Given the description of an element on the screen output the (x, y) to click on. 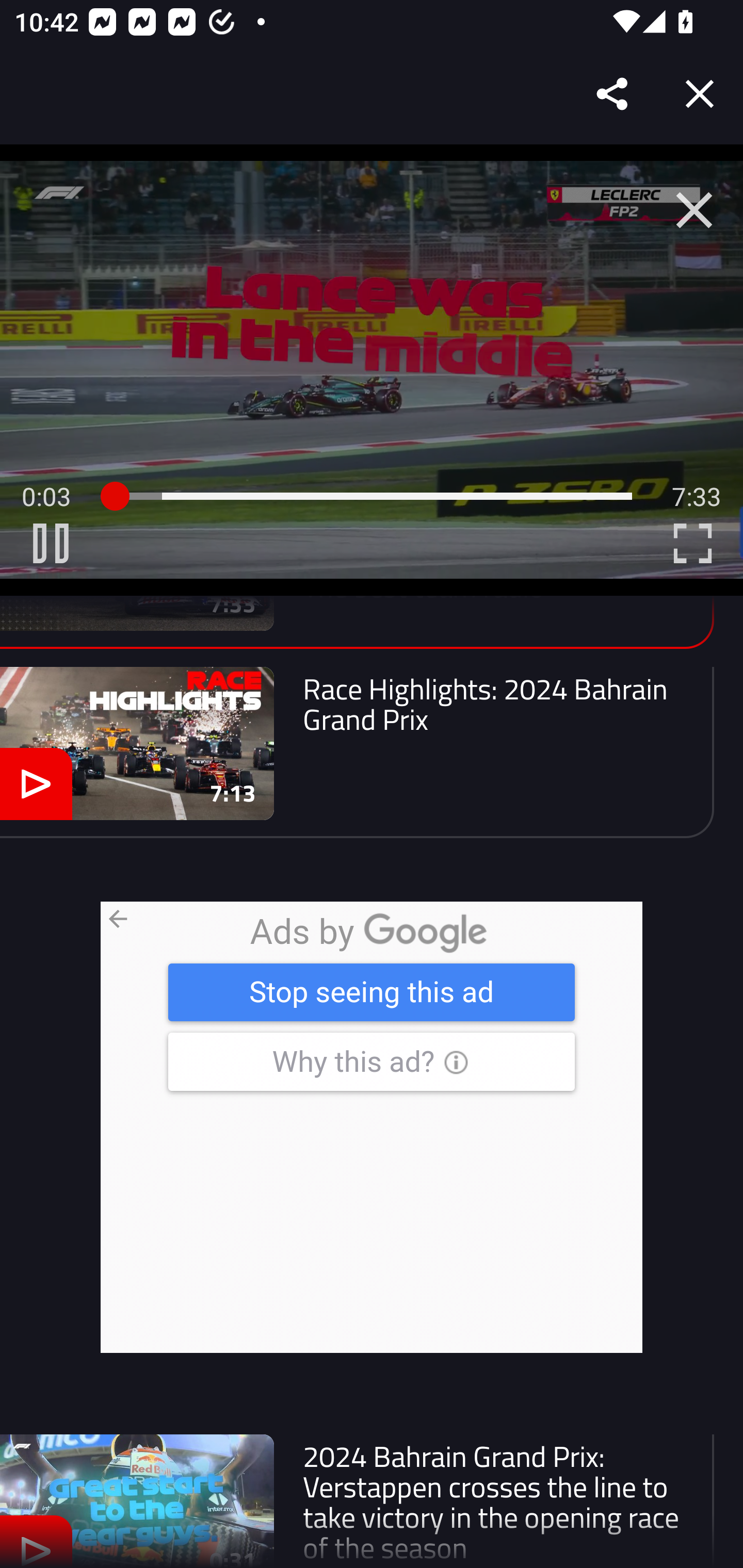
Share (612, 93)
Close (699, 93)
 Close (693, 210)
B Pause (50, 543)
C Enter Fullscreen (692, 543)
7:13 Race Highlights: 2024 Bahrain Grand Prix (357, 752)
